Given the description of an element on the screen output the (x, y) to click on. 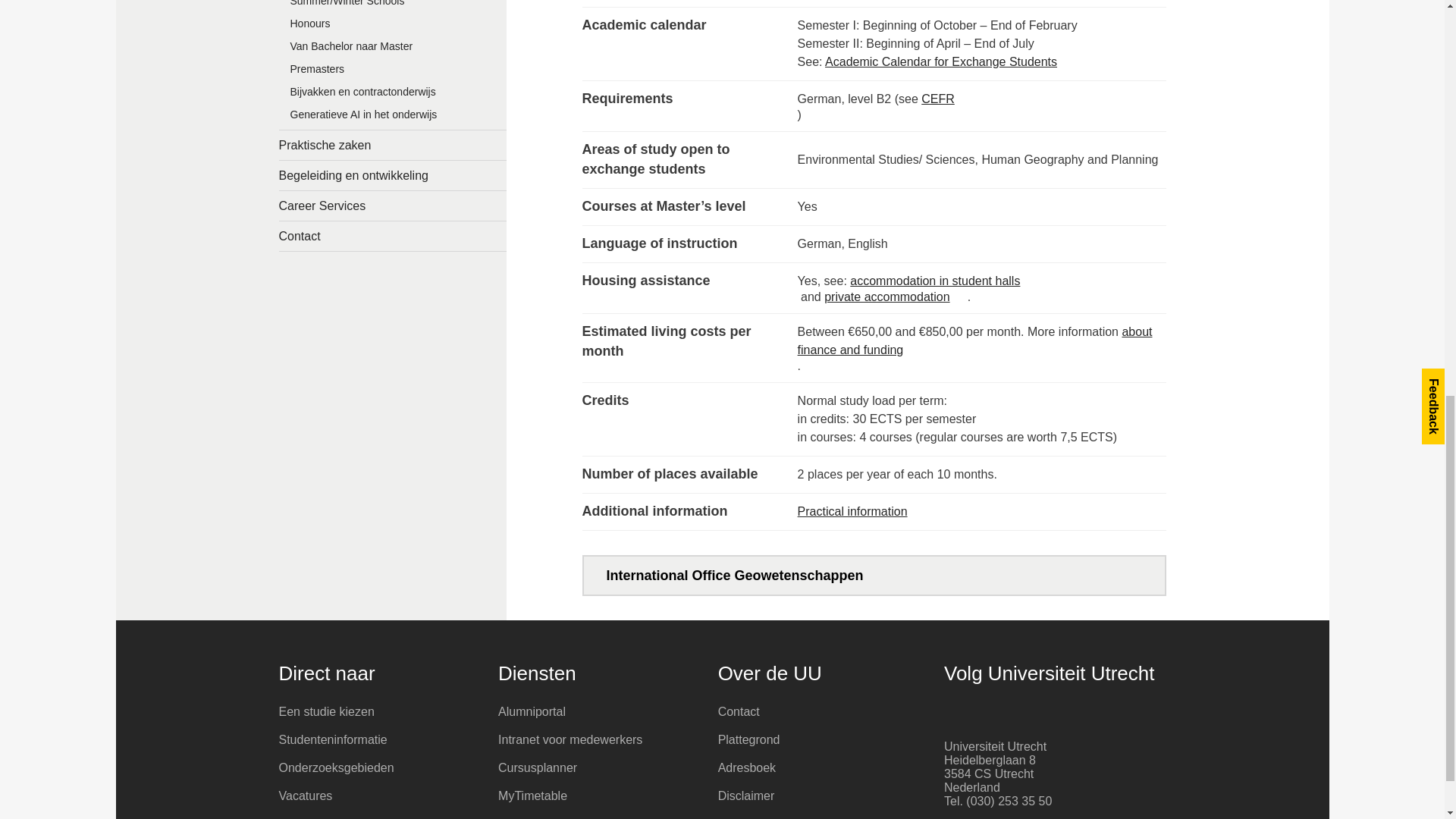
Informatie voor premasterstudenten (392, 72)
